Given the description of an element on the screen output the (x, y) to click on. 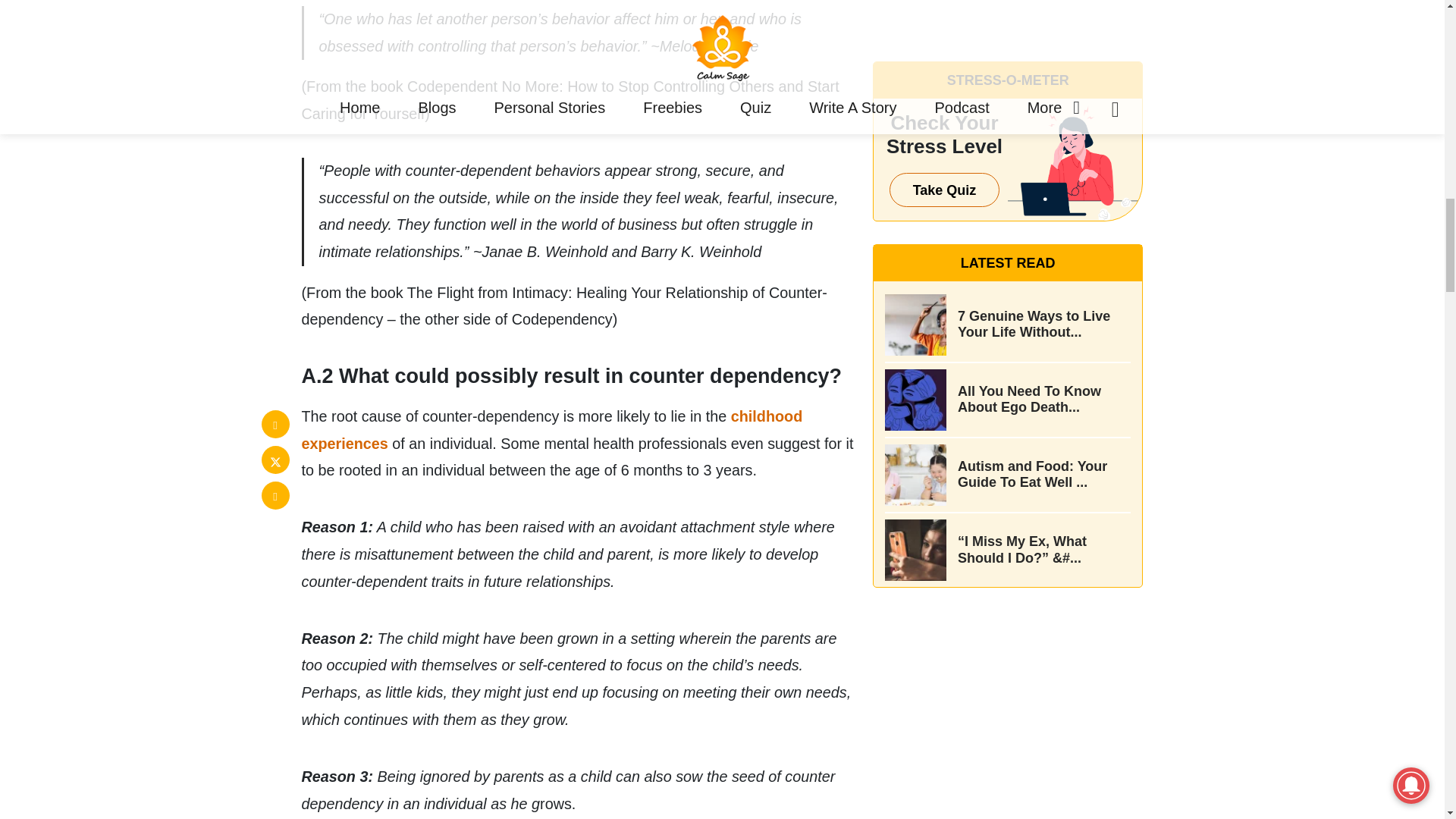
childhood experiences (552, 429)
